Given the description of an element on the screen output the (x, y) to click on. 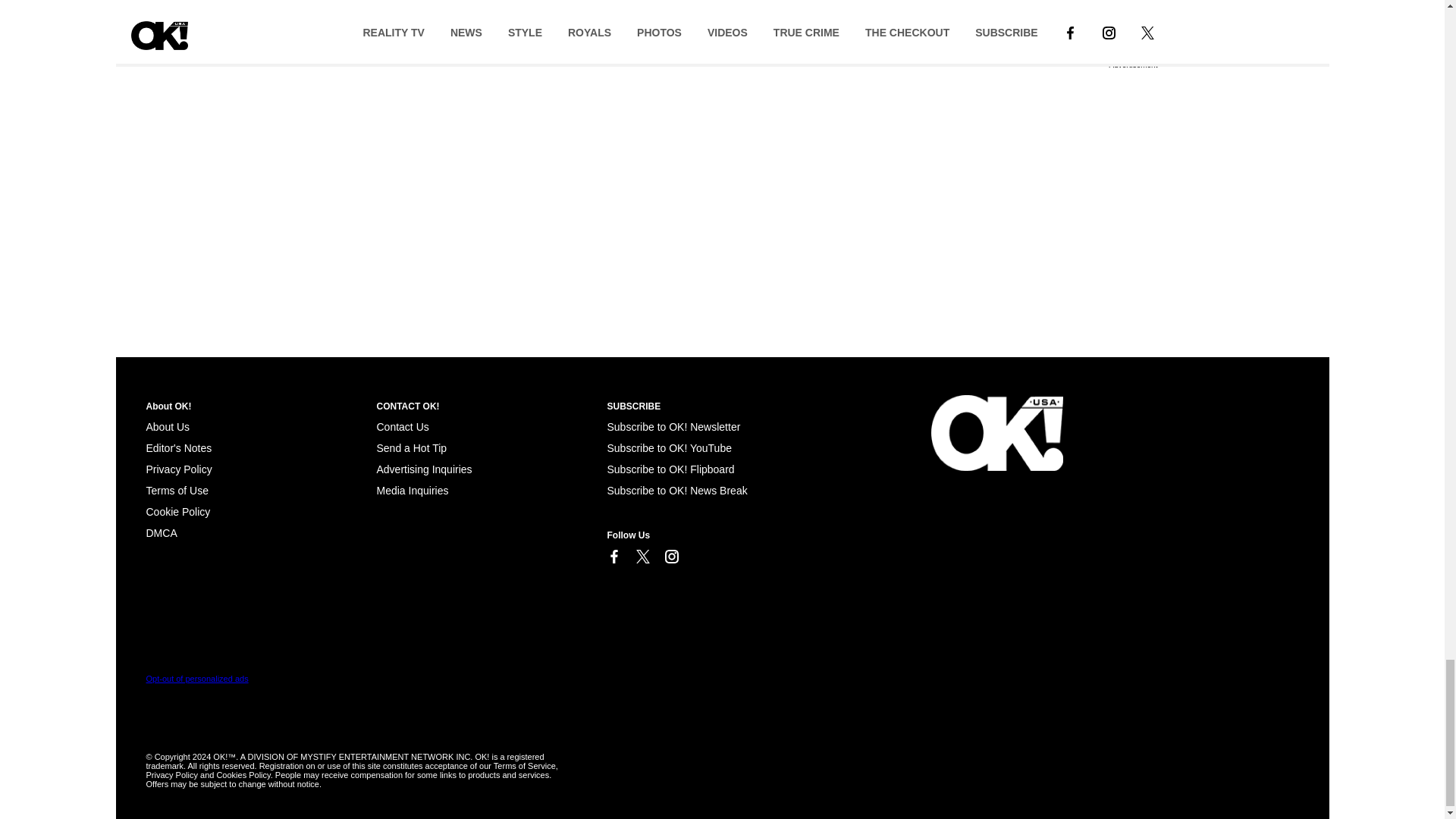
Privacy Policy (178, 469)
Cookie Policy (160, 532)
Terms of Use (176, 490)
Link to X (641, 556)
Link to Instagram (670, 556)
Cookie Policy (177, 511)
Send a Hot Tip (410, 448)
Media Inquiries (411, 490)
Link to Facebook (613, 556)
Editor's Notes (178, 448)
About Us (167, 426)
Contact Us (401, 426)
Advertising Inquiries (423, 469)
